Given the description of an element on the screen output the (x, y) to click on. 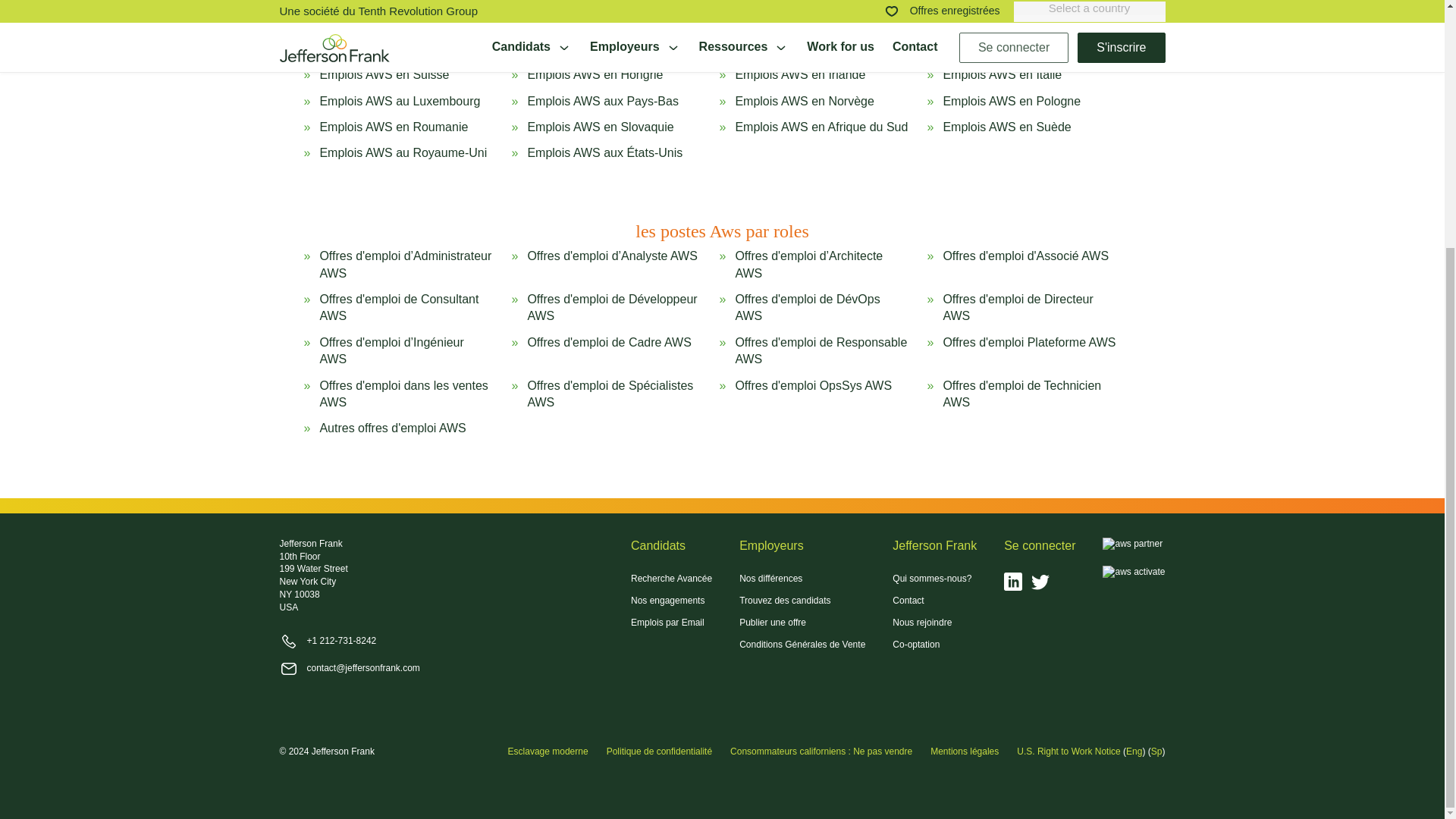
Emplois AWS au Danemark (602, 40)
Emplois AWS en Irlande (799, 74)
Emplois AWS en Hongrie (594, 74)
Emplois AWS en Suisse (383, 74)
Emplois AWS en Belgique (805, 7)
Emplois AWS en Australie (388, 7)
Emplois AWS en Bulgarie (1011, 7)
Emplois AWS en Italie (1001, 74)
Emplois AWS en Allemagne (1017, 40)
Emplois AWS en Finlande (805, 40)
Emplois AWS en Autriche (595, 7)
Emplois AWS au Luxembourg (399, 101)
